Given the description of an element on the screen output the (x, y) to click on. 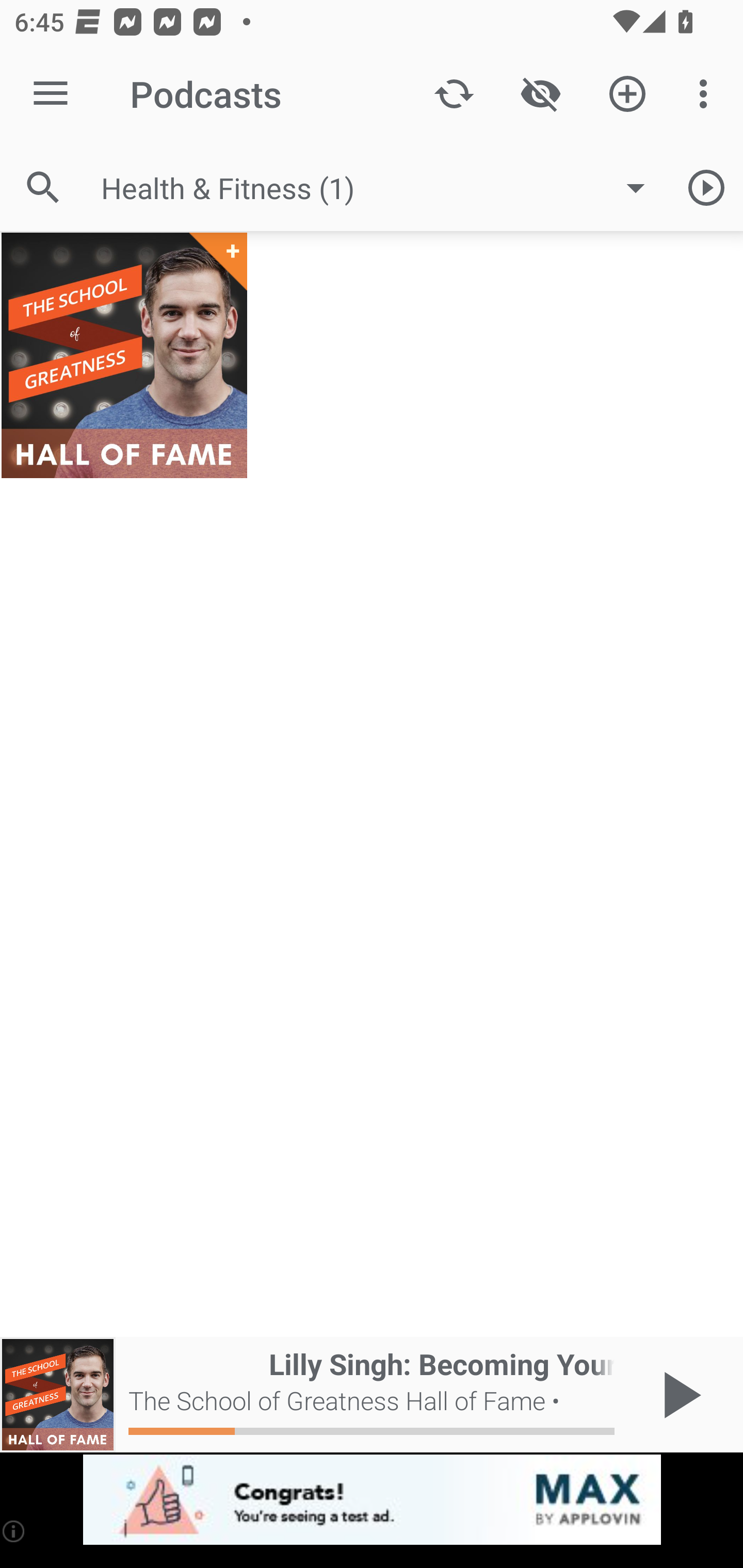
Open navigation sidebar (50, 93)
Update (453, 93)
Show / Hide played content (540, 93)
Add new Podcast (626, 93)
More options (706, 93)
Search (43, 187)
Health & Fitness (1) (382, 188)
The School of Greatness Hall of Fame + (124, 355)
Play / Pause (677, 1394)
app-monetization (371, 1500)
(i) (14, 1531)
